Given the description of an element on the screen output the (x, y) to click on. 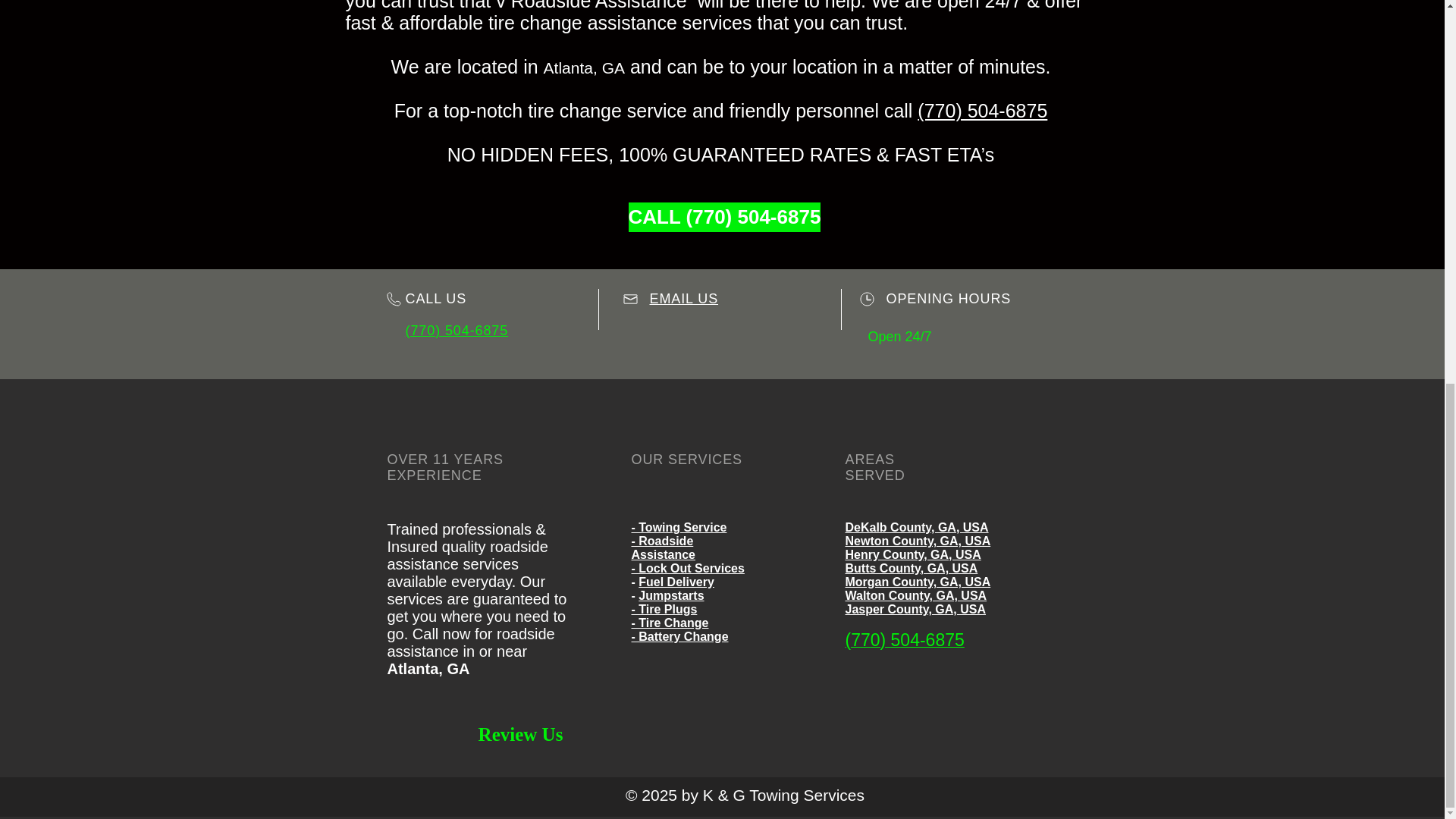
- Lock Out Services (687, 567)
Fuel Delivery (676, 581)
- Towing Service (678, 526)
Morgan County, GA, USA (917, 581)
- Roadside Assistance (662, 547)
Butts County, GA, USA (910, 567)
Walton County, GA, USA (915, 594)
Henry County, GA, USA (911, 554)
EMAIL US (683, 298)
- Battery Change (679, 635)
Newton County, GA, USA (917, 540)
Jumpstarts (671, 594)
DeKalb County, GA, USA (916, 526)
- Tire Plugs (663, 608)
- Tire Change (668, 622)
